Given the description of an element on the screen output the (x, y) to click on. 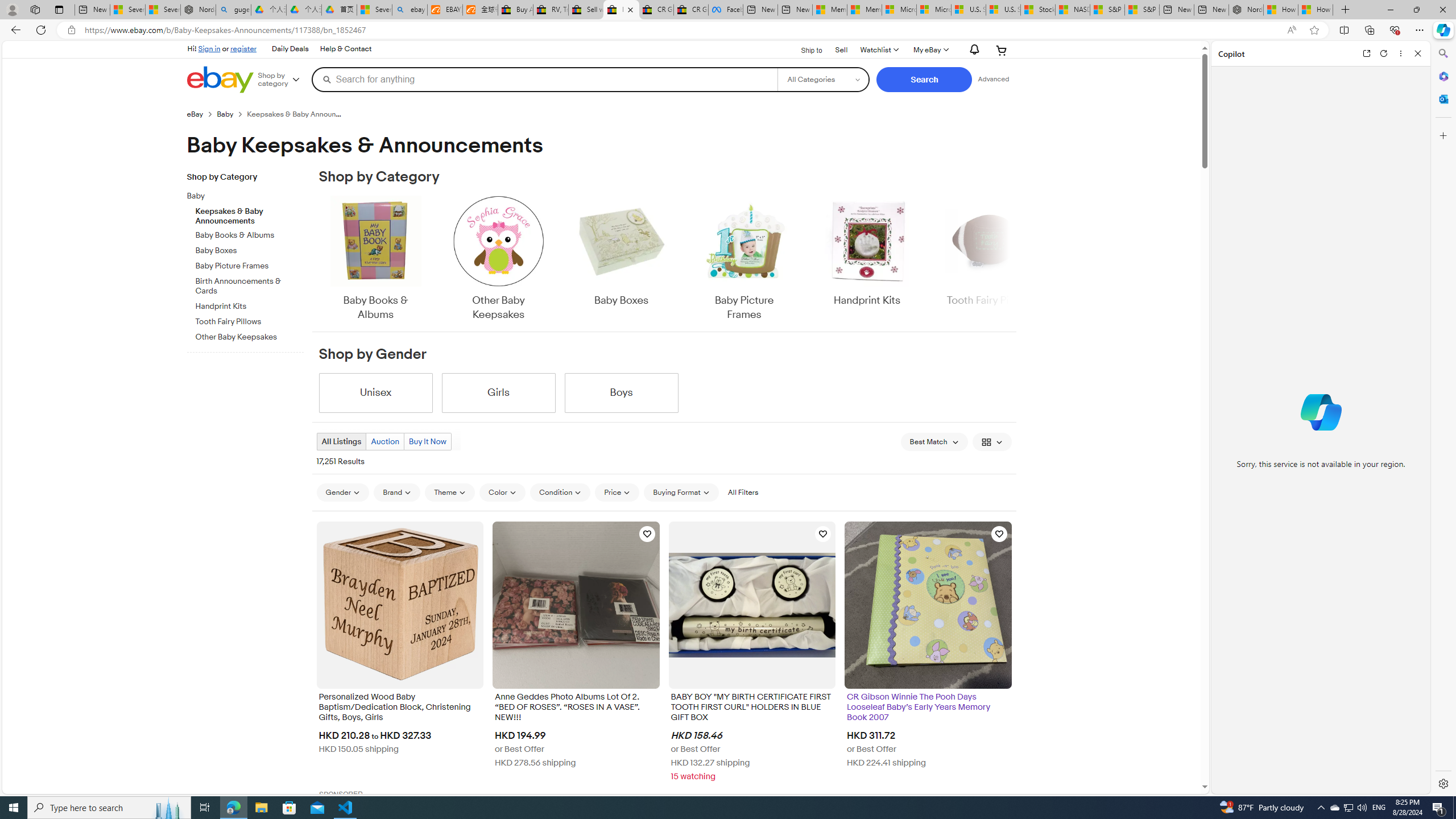
Price (617, 492)
Color (502, 492)
My eBay (930, 49)
Condition (560, 492)
Theme (450, 492)
All Filters (742, 492)
eBay Home (219, 79)
Tooth Fairy Pillows (249, 321)
All Listings Current view (341, 441)
Tooth Fairy Pillows (249, 319)
Search for anything (544, 78)
